Given the description of an element on the screen output the (x, y) to click on. 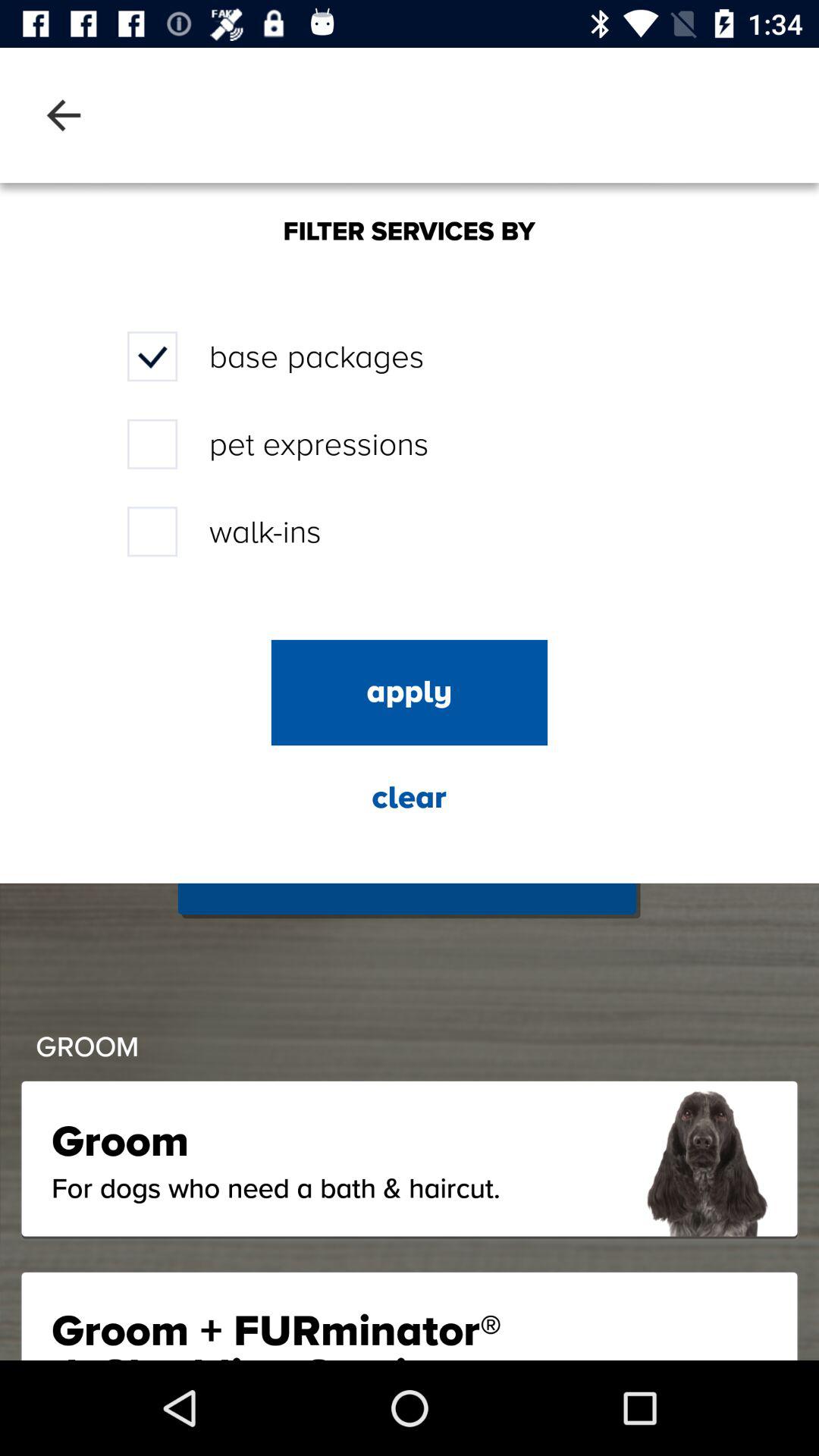
jump to clear icon (409, 798)
